Given the description of an element on the screen output the (x, y) to click on. 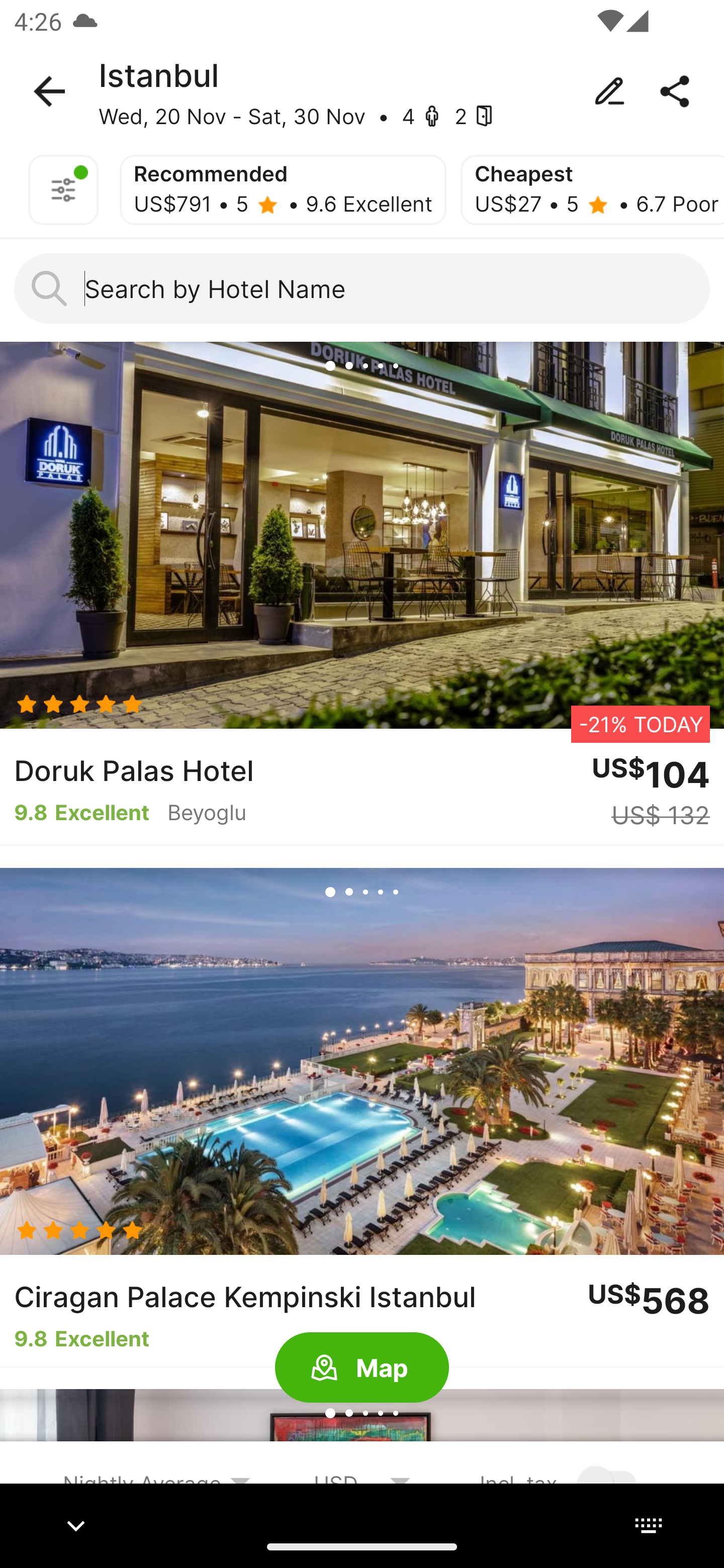
Istanbul Wed, 20 Nov - Sat, 30 Nov  •  4 -  2 - (361, 91)
Recommended  US$791  • 5 - • 9.6 Excellent (282, 190)
Cheapest US$27  • 5 - • 6.7 Poor (592, 190)
Search by Hotel Name  (361, 288)
Map  (361, 1367)
